Given the description of an element on the screen output the (x, y) to click on. 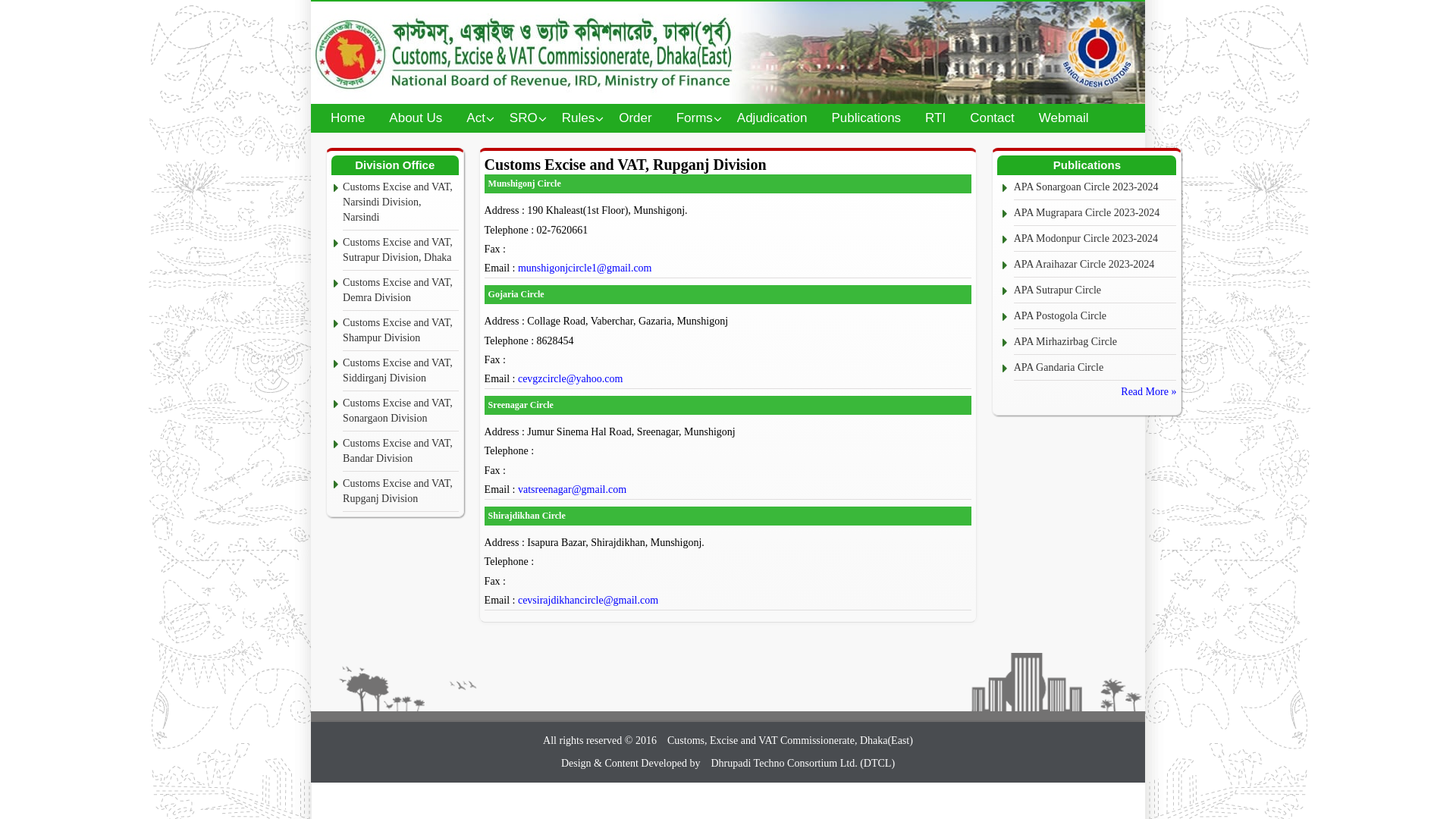
vatsreenagar@gmail.com Element type: text (571, 489)
Customs Excise and VAT, Narsindi Division, Narsindi Element type: text (400, 202)
Publications Element type: text (866, 117)
APA Gandaria Circle Element type: text (1094, 367)
cevgzcircle@yahoo.com Element type: text (569, 378)
Customs Excise and VAT, Bandar Division Element type: text (400, 451)
Webmail Element type: text (1063, 117)
Dhrupadi Techno Consortium Ltd. (DTCL) Element type: text (802, 762)
APA Modonpur Circle 2023-2024 Element type: text (1094, 238)
Customs Excise and VAT, Shampur Division Element type: text (400, 330)
Customs Excise and VAT, Sutrapur Division, Dhaka Element type: text (400, 250)
SRO Element type: text (523, 117)
Forms Element type: text (694, 117)
Customs Excise and VAT, Demra Division Element type: text (400, 290)
APA Araihazar Circle 2023-2024 Element type: text (1094, 264)
Customs Excise and VAT, Siddirganj Division Element type: text (400, 371)
munshigonjcircle1@gmail.com Element type: text (584, 267)
APA Sutrapur Circle Element type: text (1094, 290)
Home Element type: text (347, 117)
Rules Element type: text (577, 117)
Contact Element type: text (991, 117)
Convo Element type: hover (727, 52)
About Us Element type: text (415, 117)
APA Postogola Circle Element type: text (1094, 316)
RTI Element type: text (935, 117)
APA Mirhazirbag Circle Element type: text (1094, 341)
Customs, Excise and VAT Commissionerate, Dhaka(East) Element type: text (790, 740)
Act Element type: text (475, 117)
Customs Excise and VAT, Sonargaon Division Element type: text (400, 411)
Customs Excise and VAT, Rupganj Division Element type: text (400, 491)
APA Mugrapara Circle 2023-2024 Element type: text (1094, 212)
APA Sonargoan Circle 2023-2024 Element type: text (1094, 187)
cevsirajdikhancircle@gmail.com Element type: text (587, 599)
Order Element type: text (634, 117)
Adjudication Element type: text (771, 117)
